Given the description of an element on the screen output the (x, y) to click on. 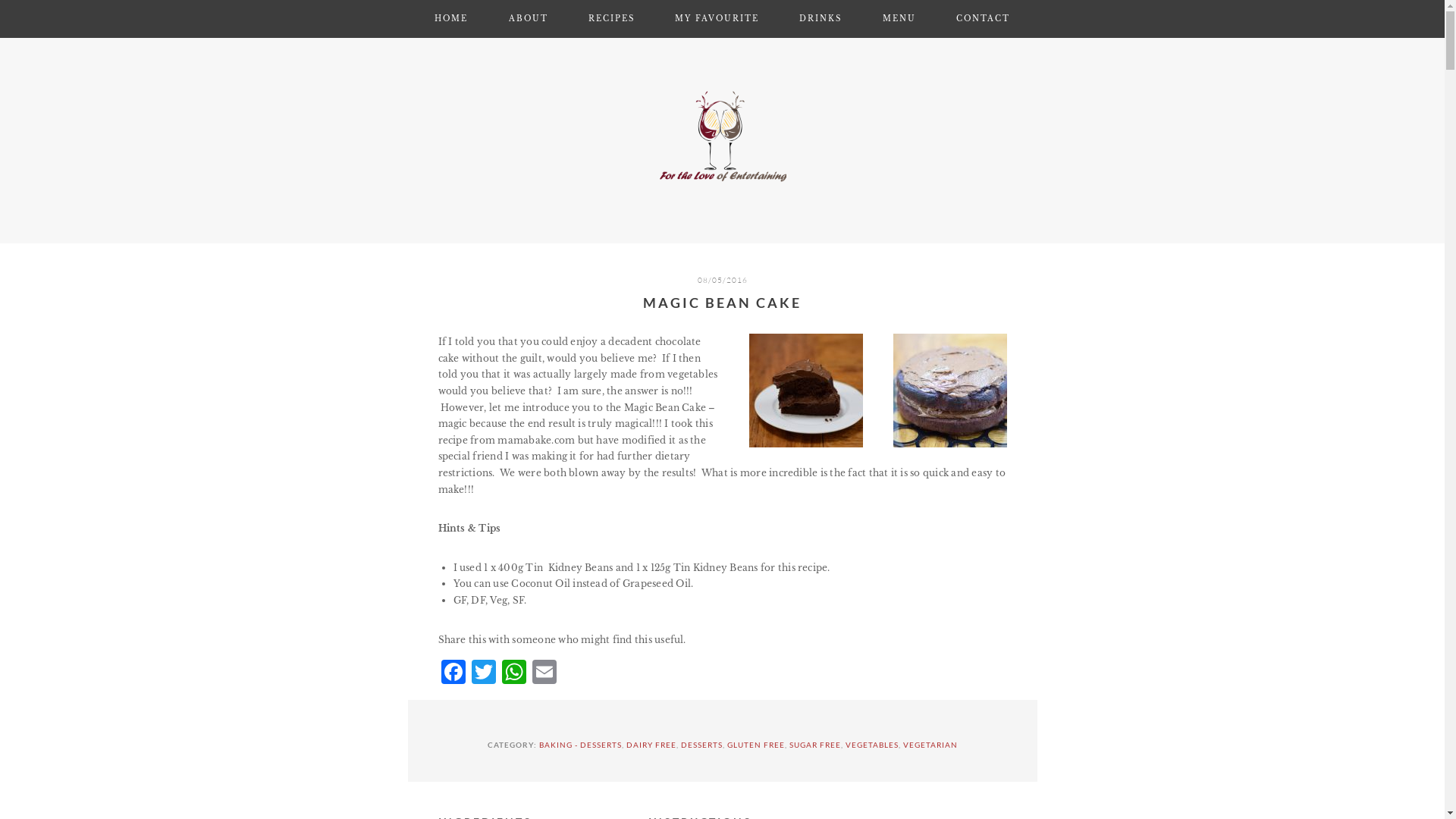
GLUTEN FREE Element type: text (755, 744)
SUGAR FREE Element type: text (814, 744)
RECIPES Element type: text (611, 18)
FTLOE Element type: text (721, 136)
HOME Element type: text (450, 18)
ABOUT Element type: text (528, 18)
Skip to primary navigation Element type: text (0, 0)
CONTACT Element type: text (983, 18)
VEGETABLES Element type: text (870, 744)
Twitter Element type: text (483, 673)
BAKING - DESSERTS Element type: text (579, 744)
MY FAVOURITE Element type: text (716, 18)
Facebook Element type: text (453, 673)
VEGETARIAN Element type: text (929, 744)
MENU Element type: text (898, 18)
WhatsApp Element type: text (513, 673)
DESSERTS Element type: text (701, 744)
DAIRY FREE Element type: text (651, 744)
Email Element type: text (544, 673)
DRINKS Element type: text (820, 18)
